Given the description of an element on the screen output the (x, y) to click on. 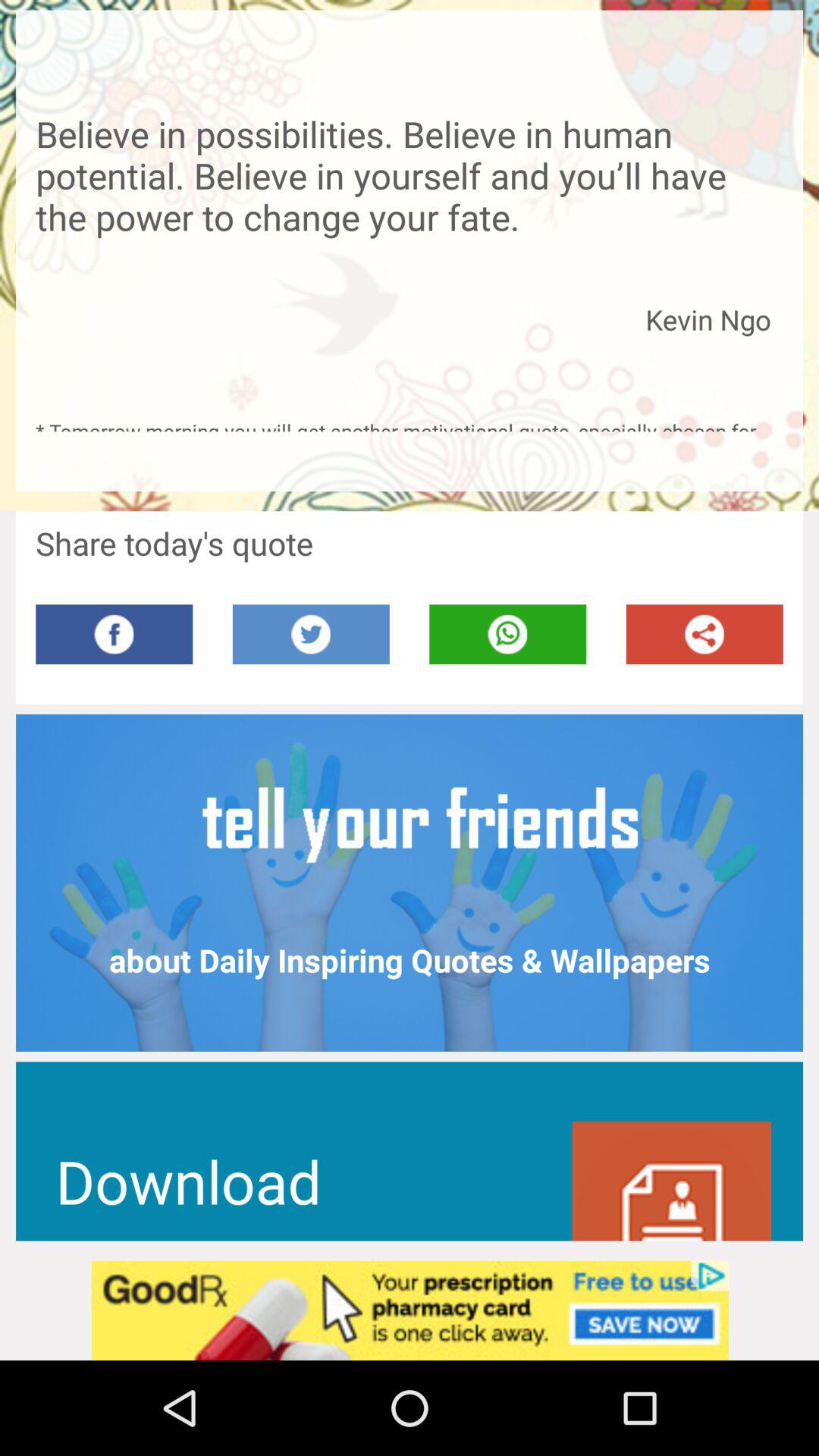
share this quote (704, 634)
